Given the description of an element on the screen output the (x, y) to click on. 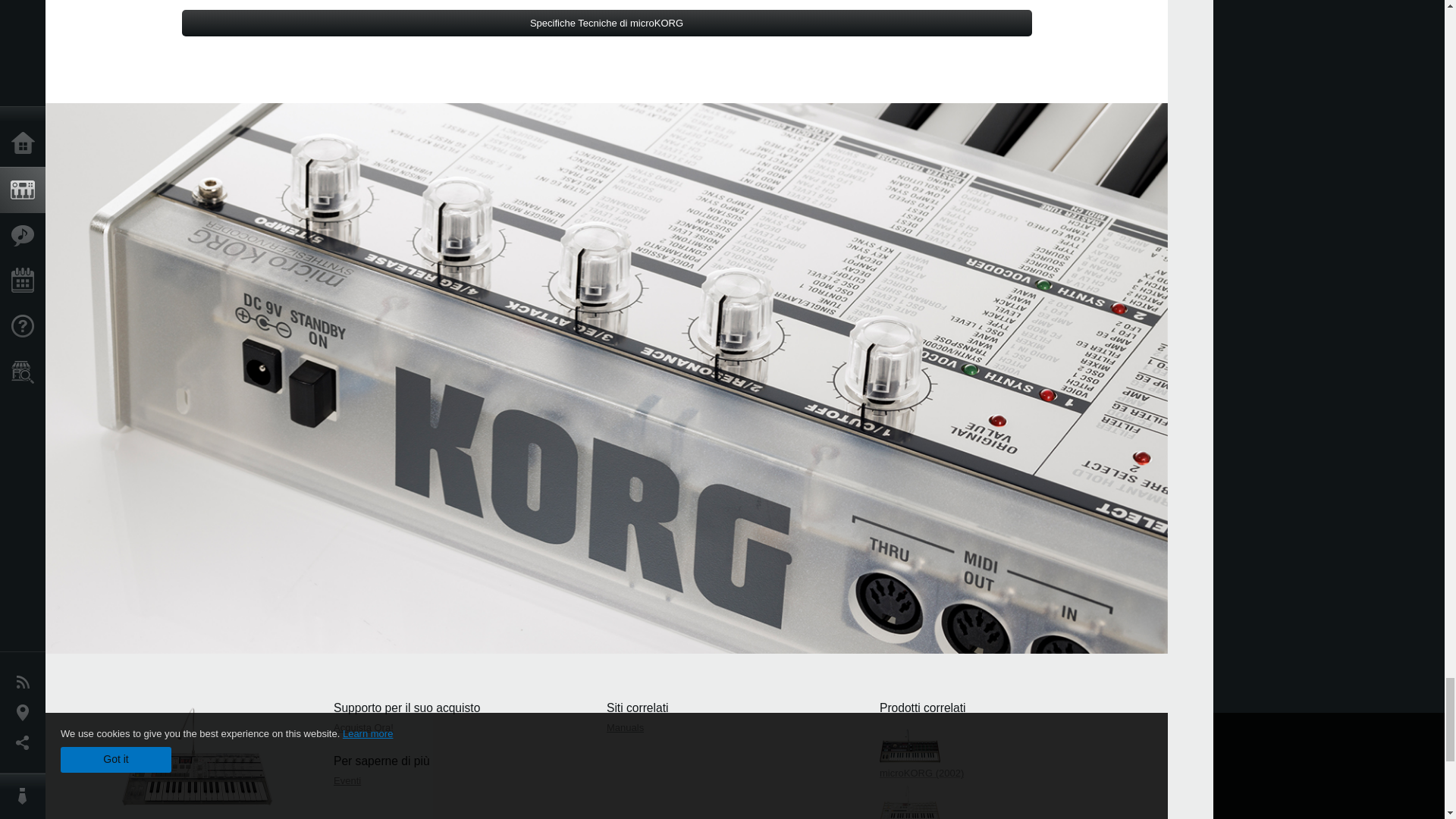
Specifiche Tecniche di microKORG (607, 22)
Eventi (347, 780)
Acquista Ora! (363, 727)
Manuals (625, 727)
